Given the description of an element on the screen output the (x, y) to click on. 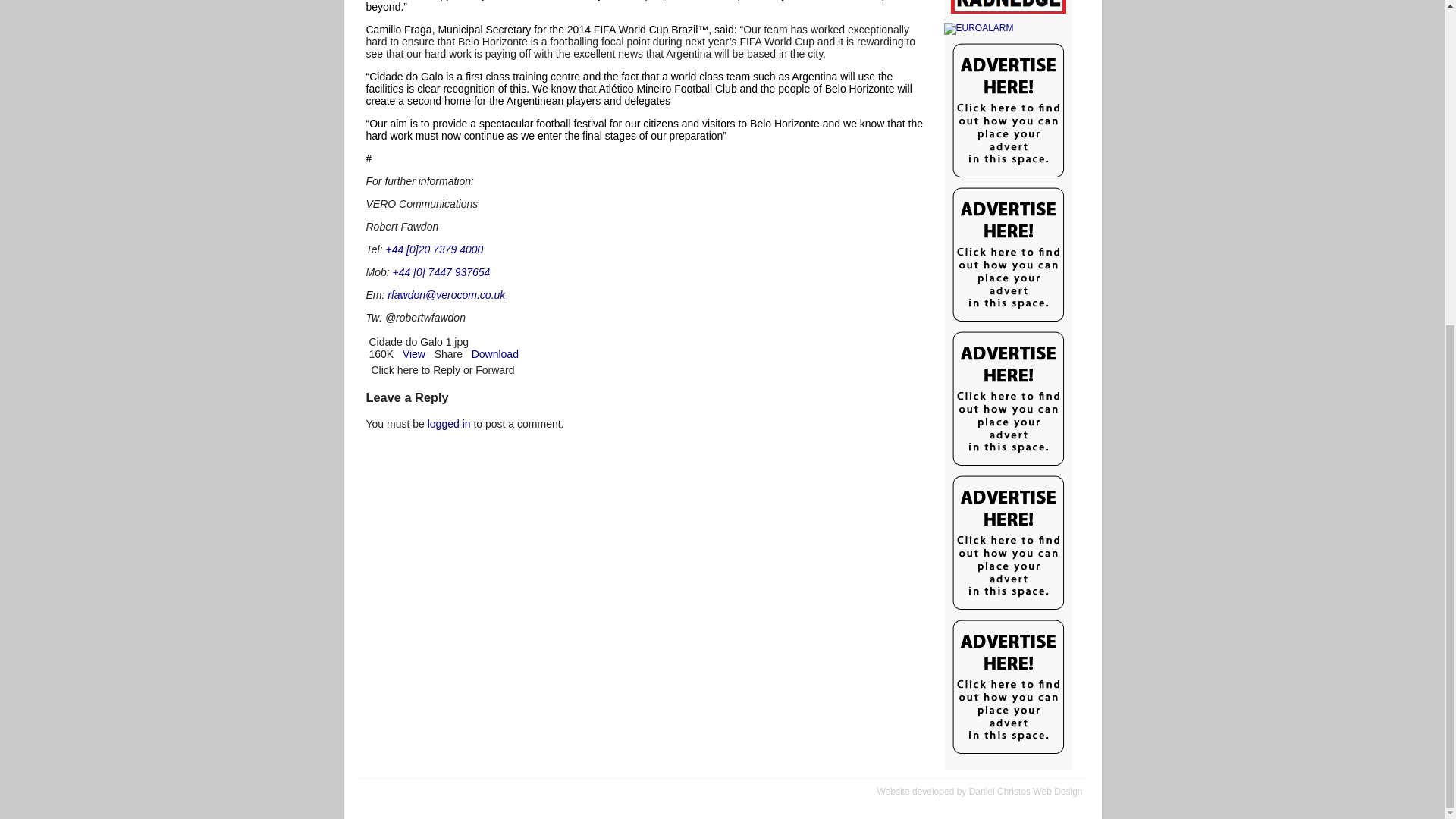
View (414, 354)
Download (494, 354)
WFR2024 (1007, 7)
Click to view OR drag to your desktop to save (494, 354)
logged in (449, 423)
EUROALARM (1007, 28)
Daniel Christos Web Design (1026, 791)
